Given the description of an element on the screen output the (x, y) to click on. 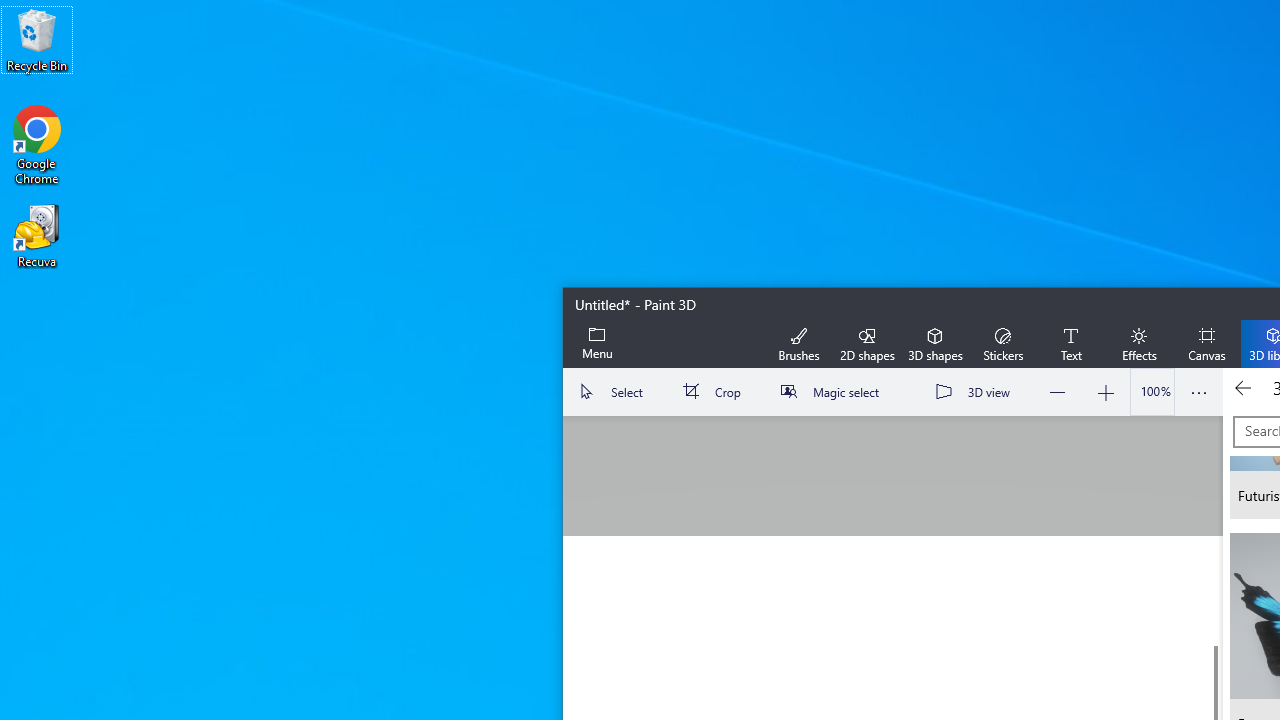
Recycle Bin (37, 39)
Google Chrome (37, 144)
Recuva (37, 235)
